Given the description of an element on the screen output the (x, y) to click on. 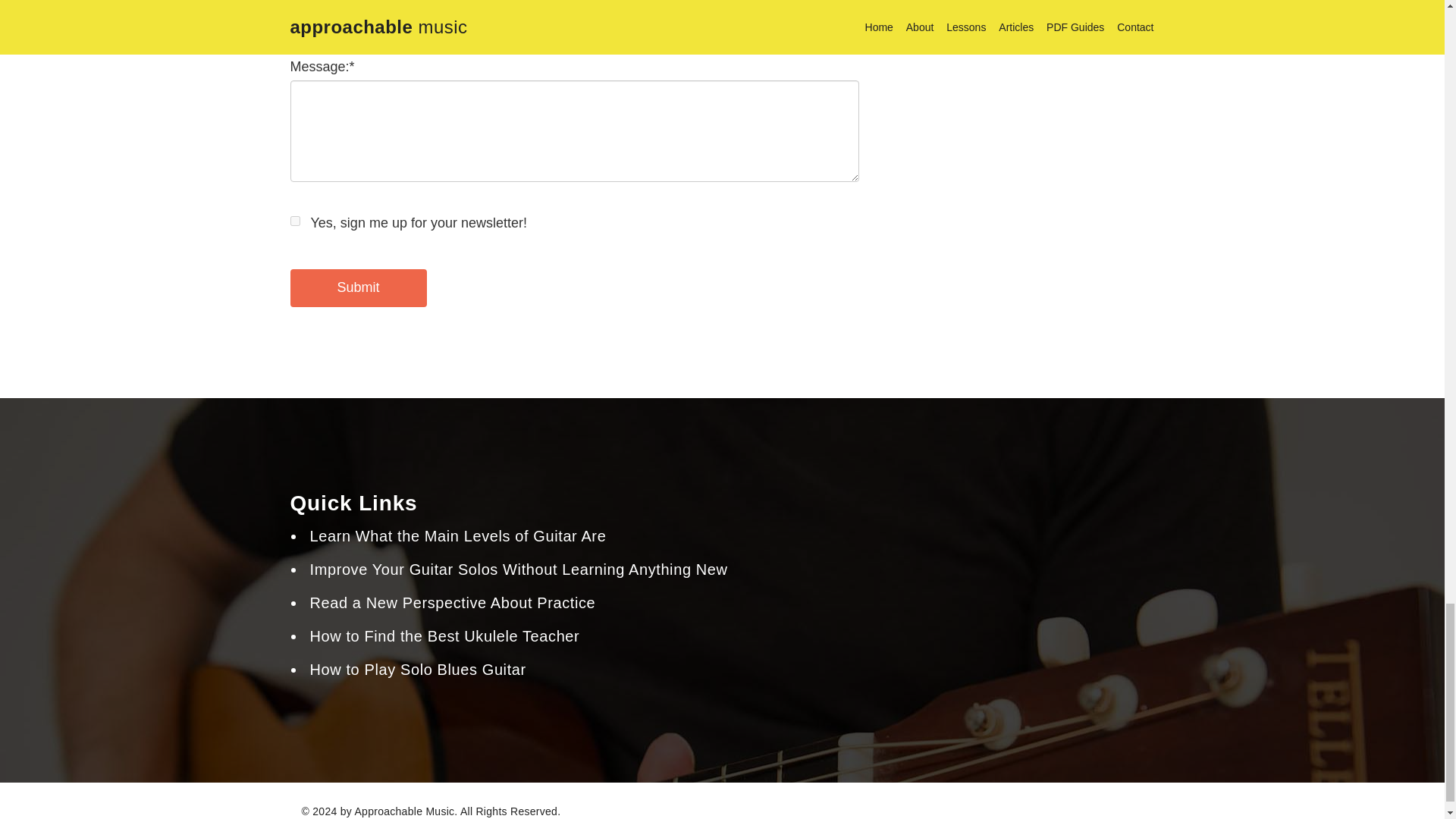
How to Find the Best Ukulele Teacher (443, 636)
Learn What the Main Levels of Guitar Are (456, 535)
How to Play Solo Blues Guitar (416, 669)
Submit (357, 288)
Read a New Perspective About Practice (451, 602)
Sign me up for the newsletter please (294, 221)
Approachable Music (403, 811)
Submit (357, 288)
Improve Your Guitar Solos Without Learning Anything New (517, 569)
